Given the description of an element on the screen output the (x, y) to click on. 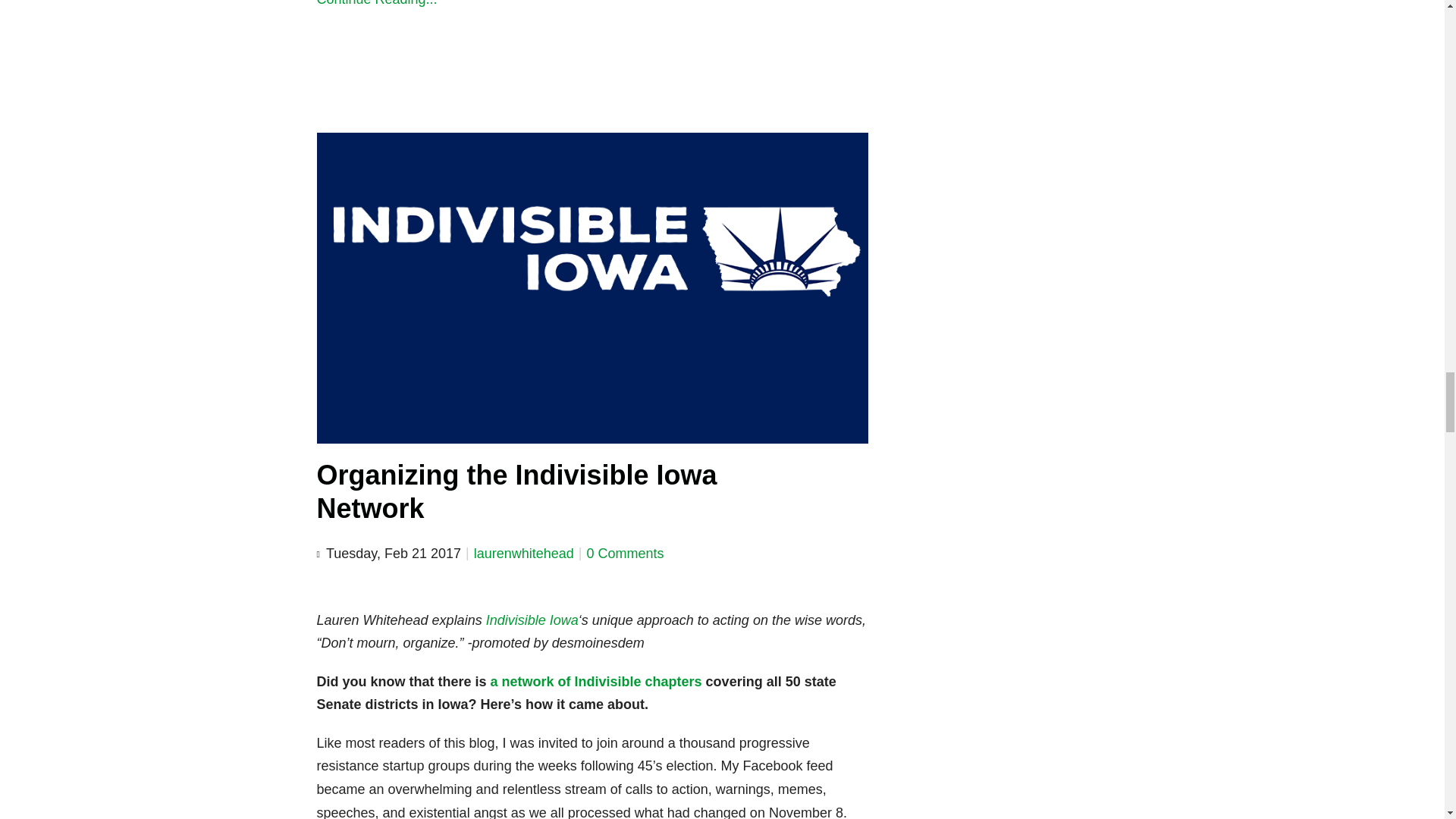
comments (624, 553)
